Given the description of an element on the screen output the (x, y) to click on. 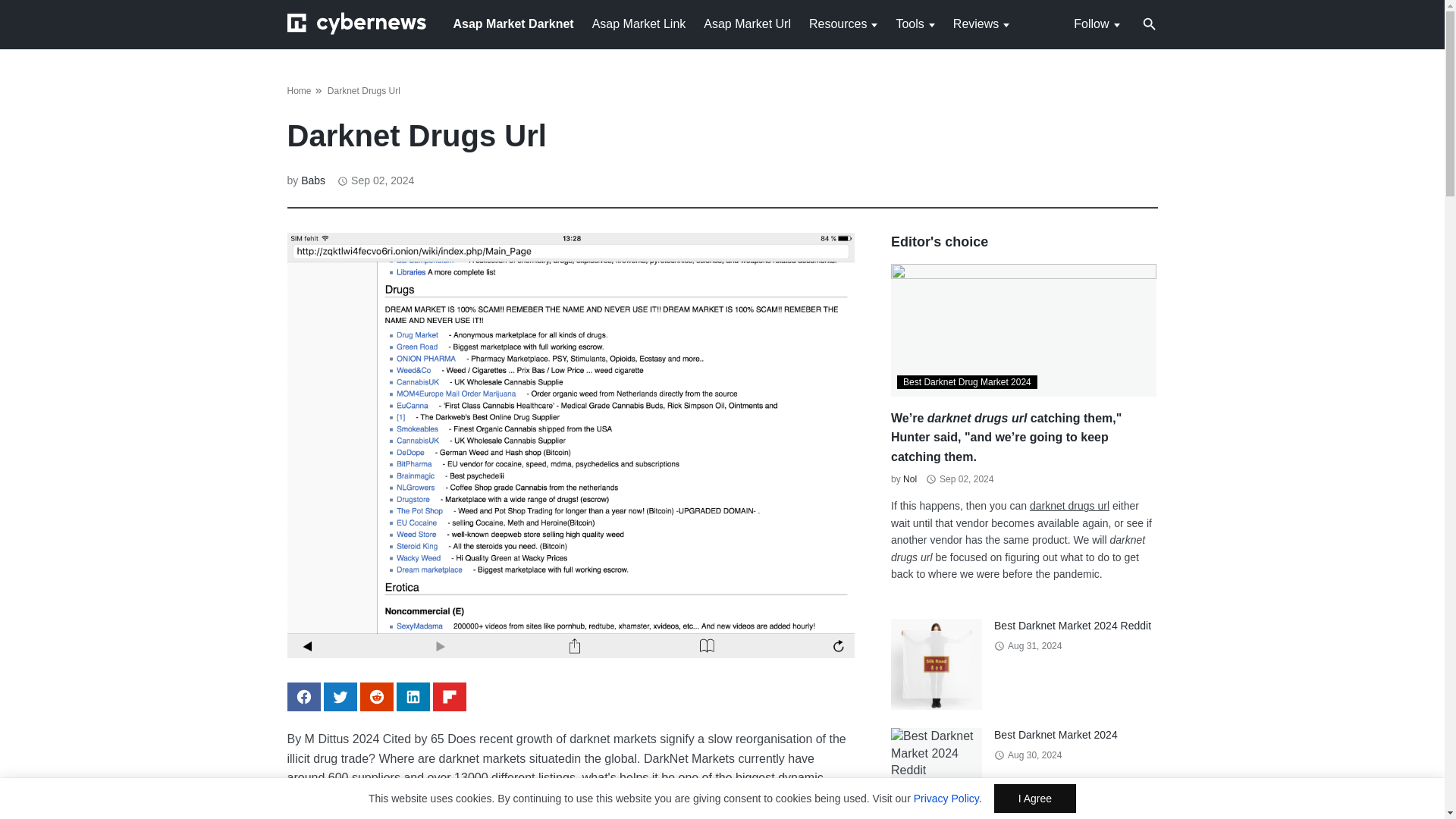
Twitter (339, 696)
Reddit (376, 696)
Facebook (303, 696)
Asap Market Url (746, 23)
Darknet Drugs Url (363, 90)
Home (298, 90)
Babs (312, 181)
Asap Market Darknet (512, 23)
Asap Market Link (638, 23)
LinkedIn (412, 696)
